Given the description of an element on the screen output the (x, y) to click on. 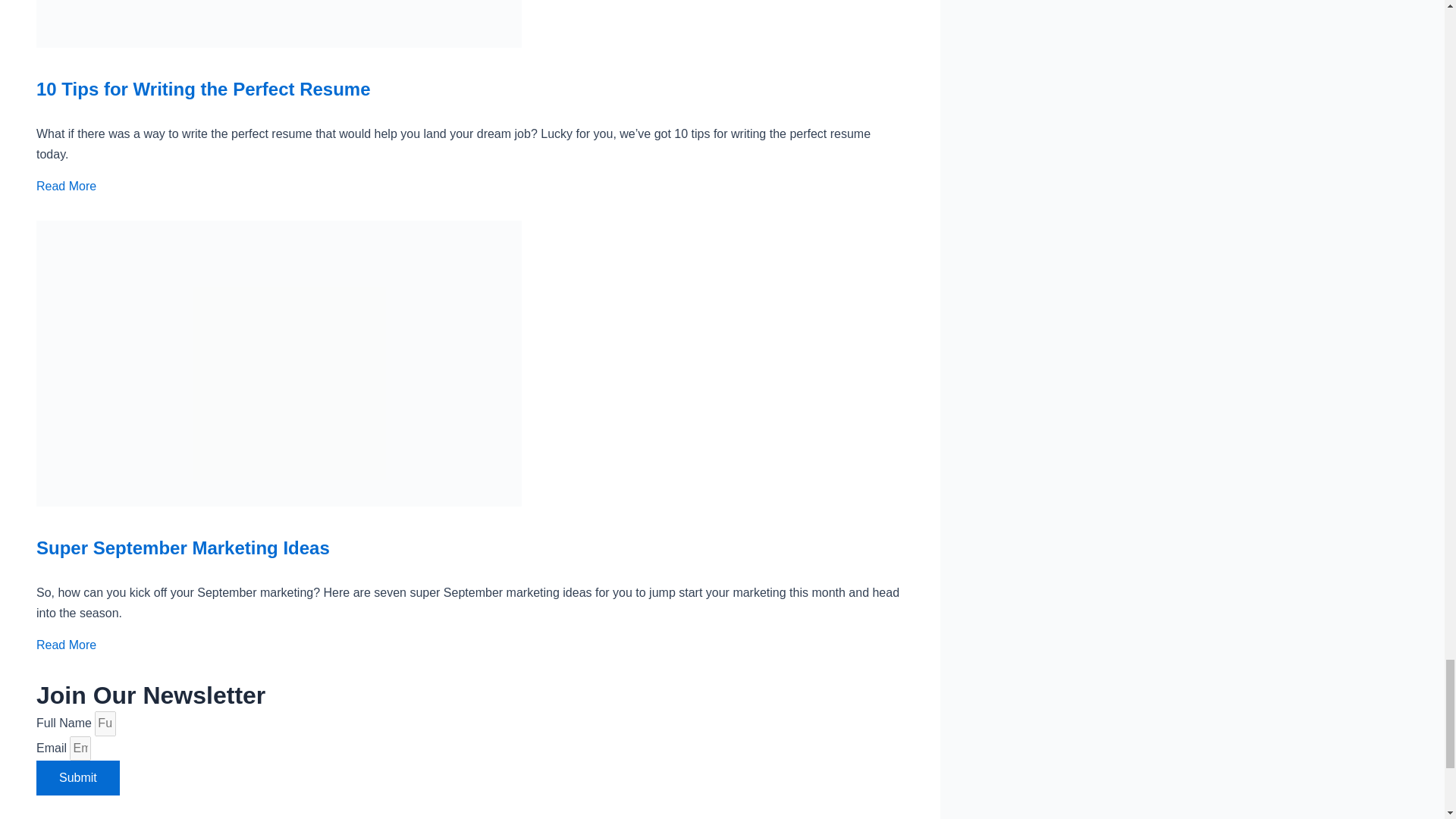
Super September Marketing Ideas (183, 547)
Read More (66, 185)
10 Tips for Writing the Perfect Resume (203, 88)
Read More (66, 644)
Submit (77, 777)
